Given the description of an element on the screen output the (x, y) to click on. 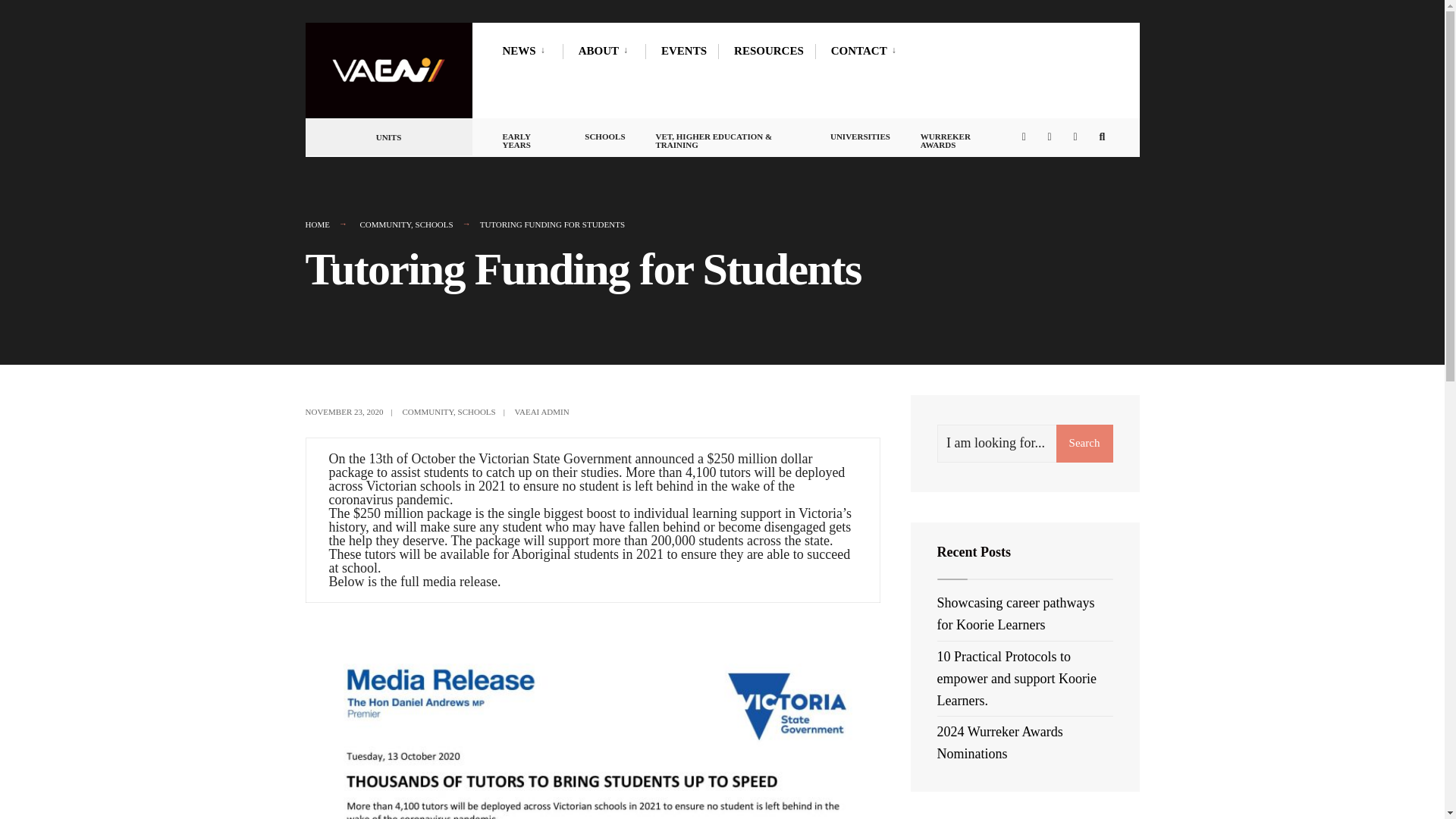
RESOURCES (768, 50)
UNIVERSITIES (859, 132)
ABOUT (605, 50)
EVENTS (683, 50)
NEWS (526, 50)
EARLY YEARS (528, 137)
I am looking for... (1025, 443)
WURREKER AWARDS (959, 137)
CONTACT (866, 50)
Skip to content (312, 26)
